Given the description of an element on the screen output the (x, y) to click on. 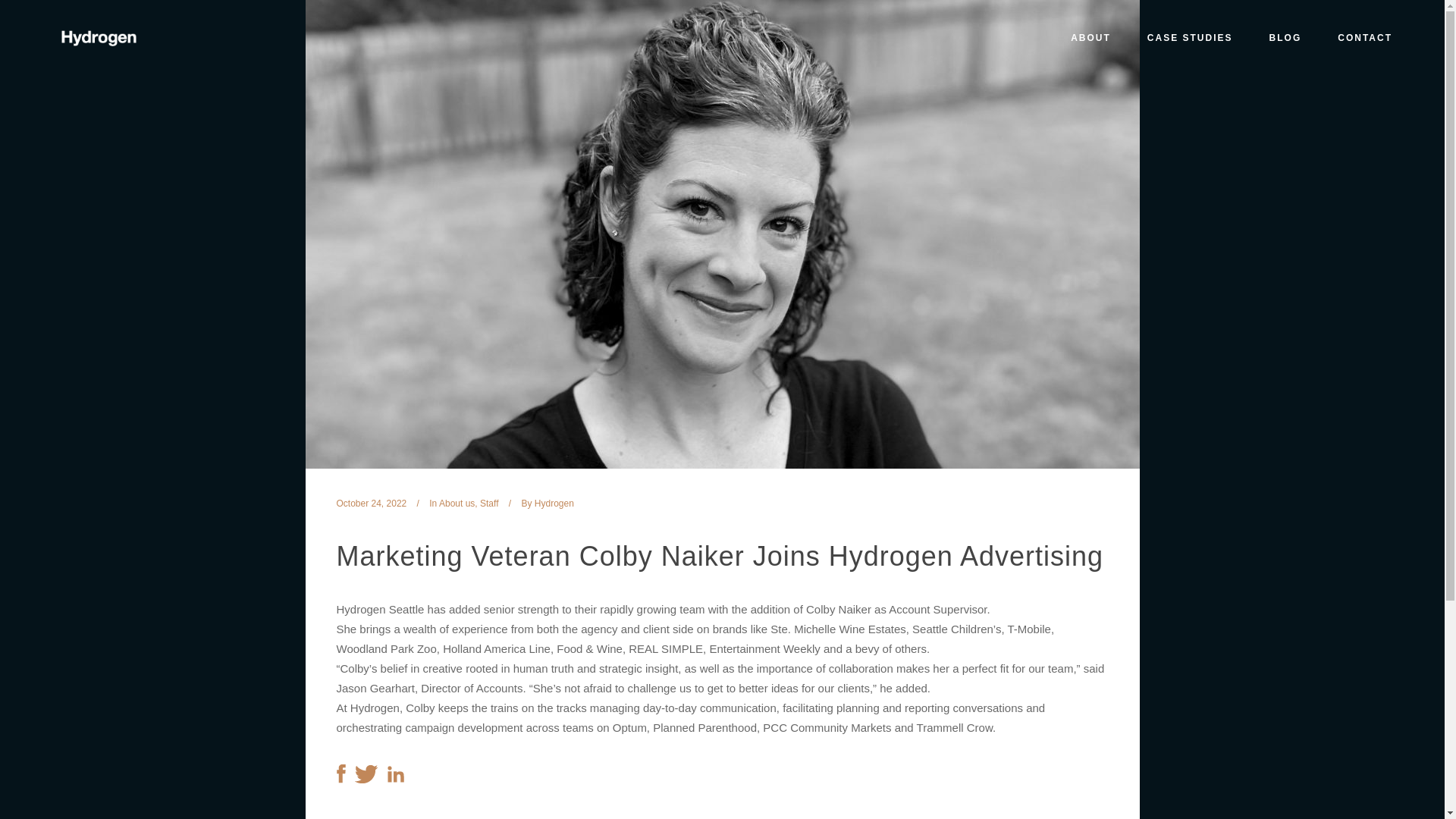
ABOUT (1090, 38)
Share on Twitter (366, 778)
Instagram (59, 705)
Staff (488, 502)
Share on LinkedIn (395, 778)
CONTACT (1364, 38)
CASE STUDIES (1189, 38)
About us (456, 502)
New business inquiries (103, 612)
BLOG (1285, 38)
General inquiries (89, 664)
Hydrogen (553, 502)
Facebook (40, 705)
LinkedIn (78, 705)
